Given the description of an element on the screen output the (x, y) to click on. 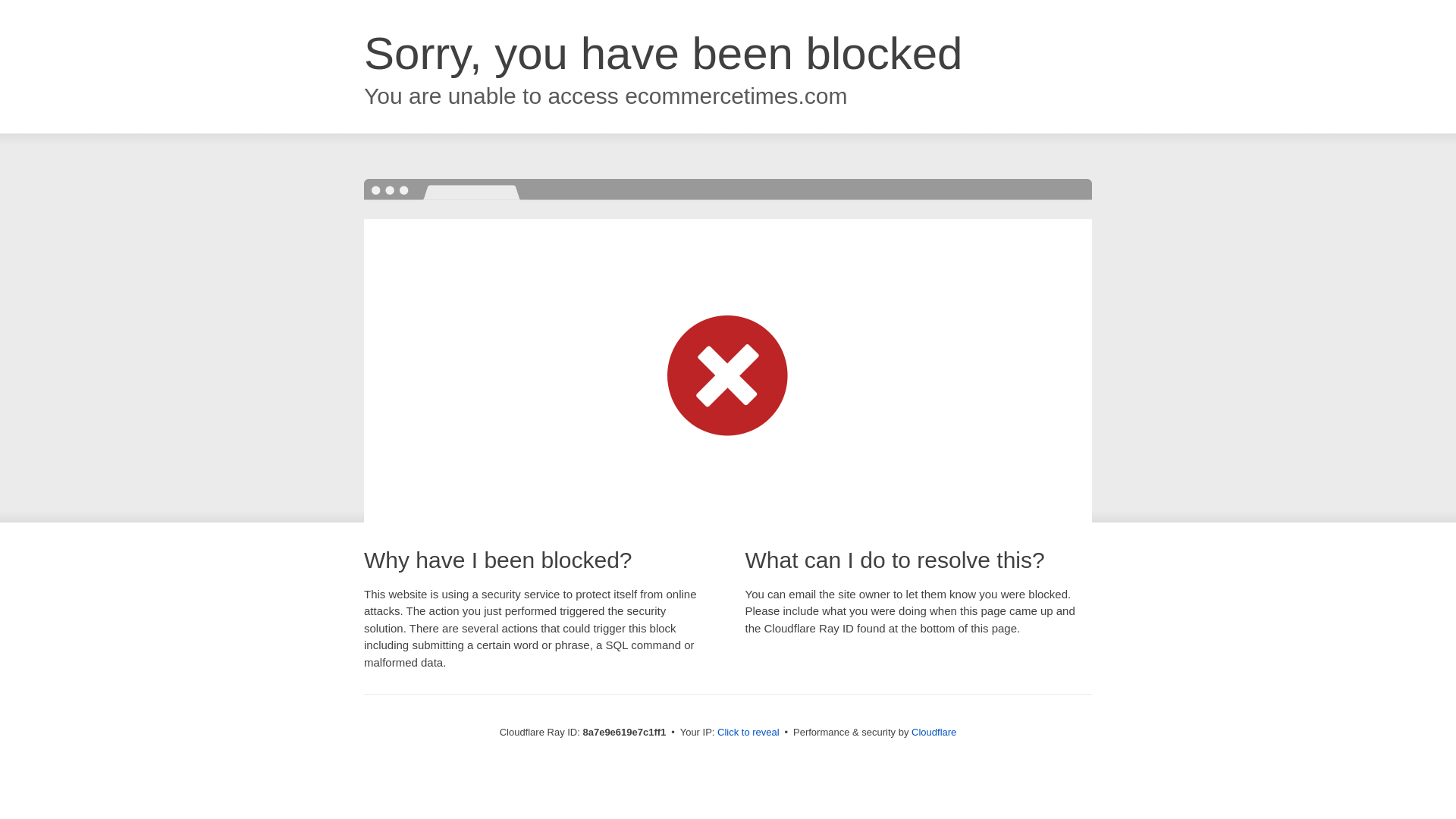
Cloudflare (933, 731)
Click to reveal (747, 732)
